Given the description of an element on the screen output the (x, y) to click on. 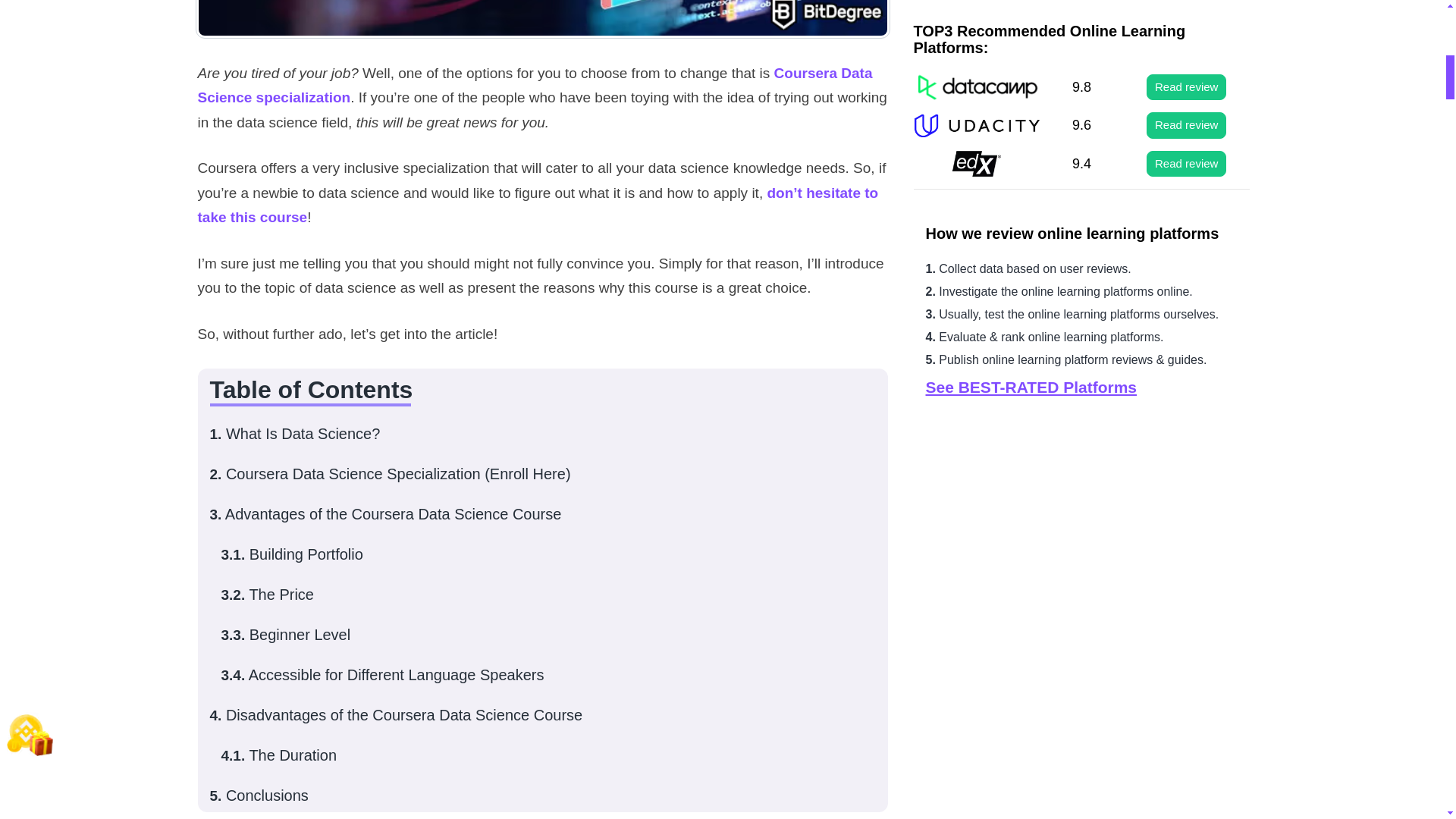
4. Disadvantages of the Coursera Data Science Course (395, 714)
4.1. The Duration (279, 754)
5. Conclusions (258, 795)
3. Advantages of the Coursera Data Science Course (384, 514)
3.4. Accessible for Different Language Speakers (382, 674)
3.2. The Price (267, 594)
Coursera Data Science: Is It Worth It? (542, 19)
3.3. Beginner Level (285, 634)
1. What Is Data Science? (294, 433)
Coursera Data Science specialization (534, 85)
3.1. Building Portfolio (291, 554)
